Given the description of an element on the screen output the (x, y) to click on. 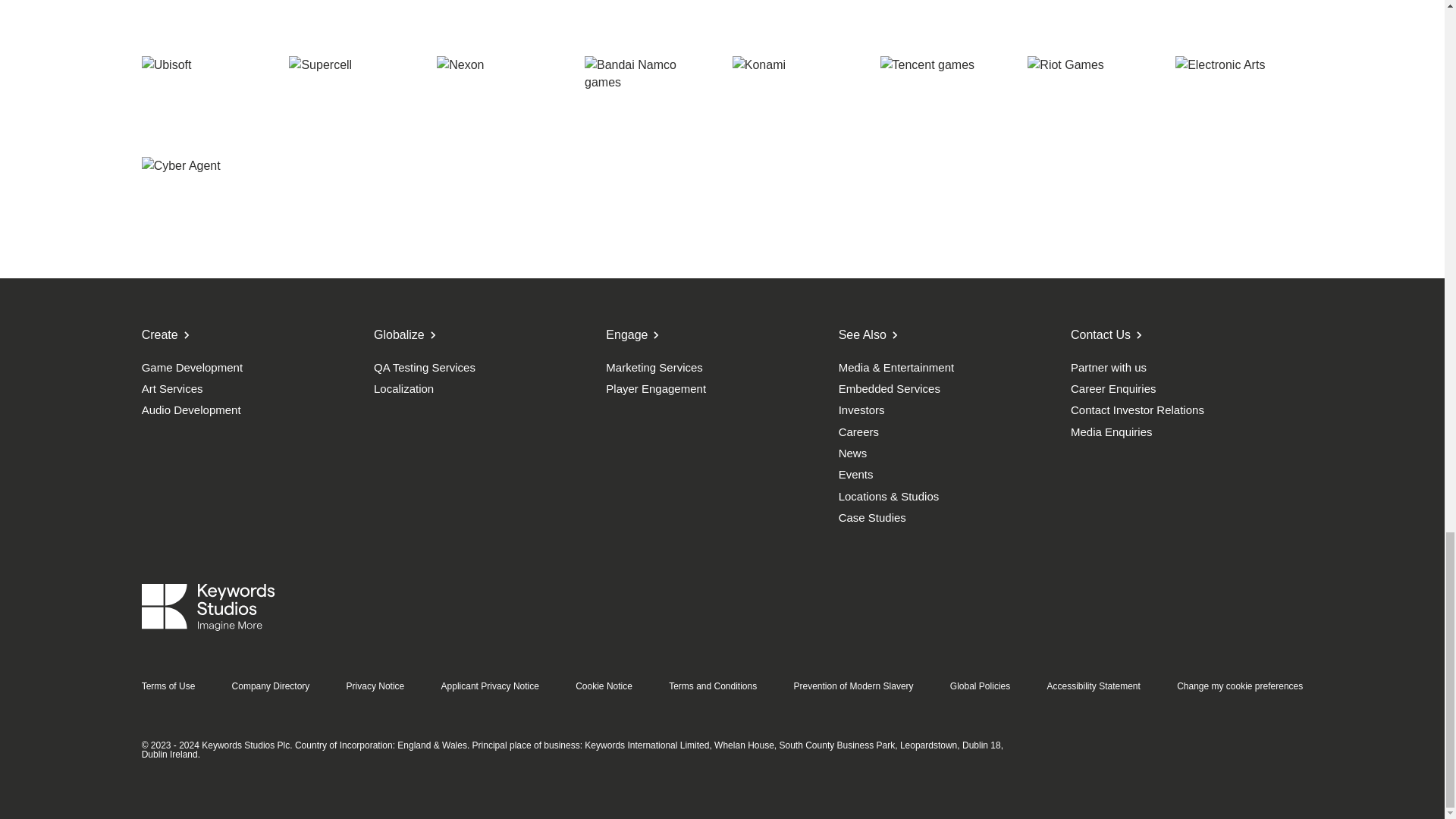
QA Testing Services (484, 367)
Game Development (251, 367)
Events (948, 473)
News (948, 452)
See Also (948, 335)
Globalize (484, 335)
Localization (484, 388)
Careers (948, 431)
Player Engagement (716, 388)
Investors (948, 409)
